Given the description of an element on the screen output the (x, y) to click on. 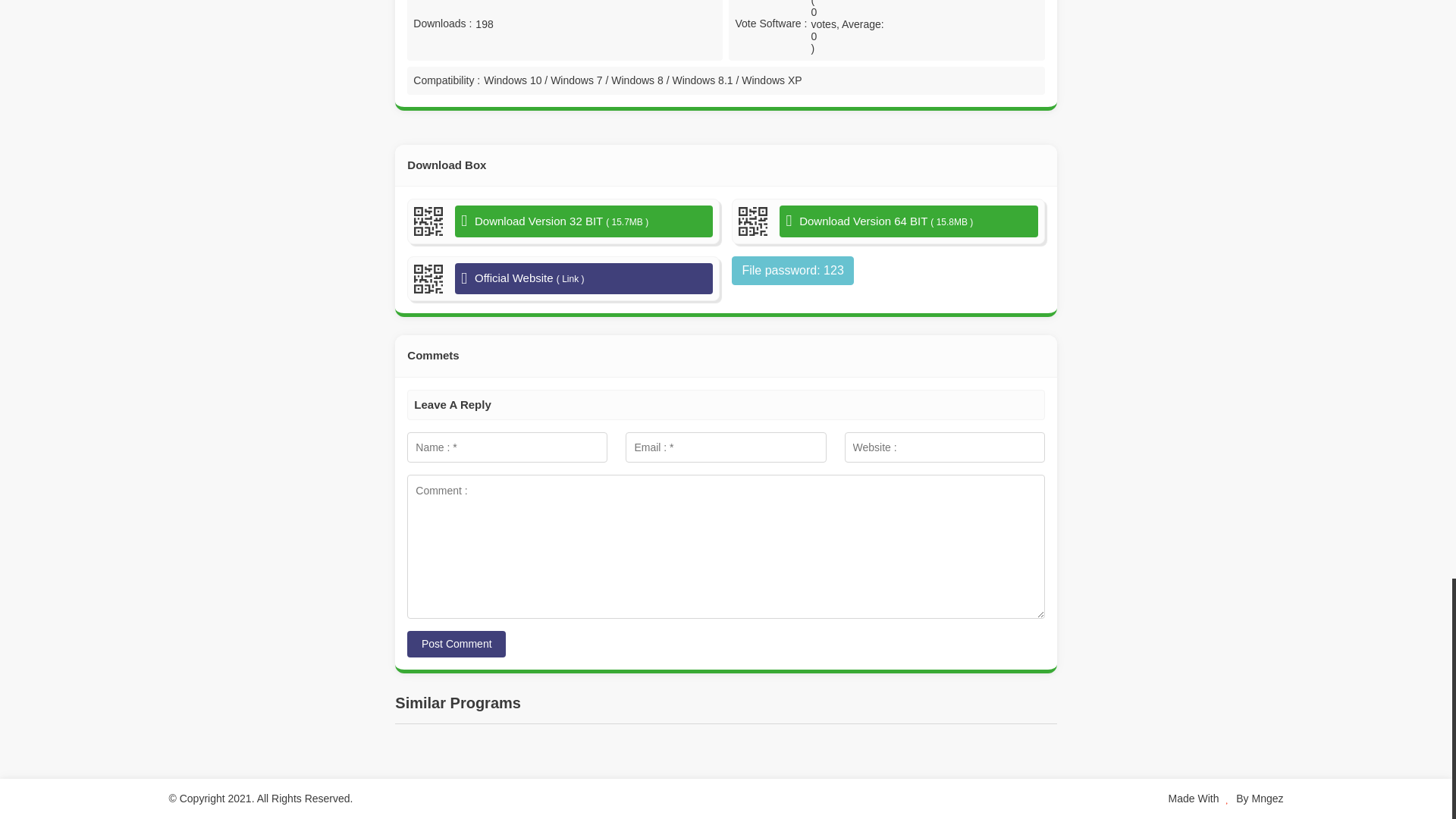
Download Version 64 BIT (907, 221)
Download Version 32 BIT (583, 221)
Post Comment (456, 643)
Official Website (583, 278)
